Given the description of an element on the screen output the (x, y) to click on. 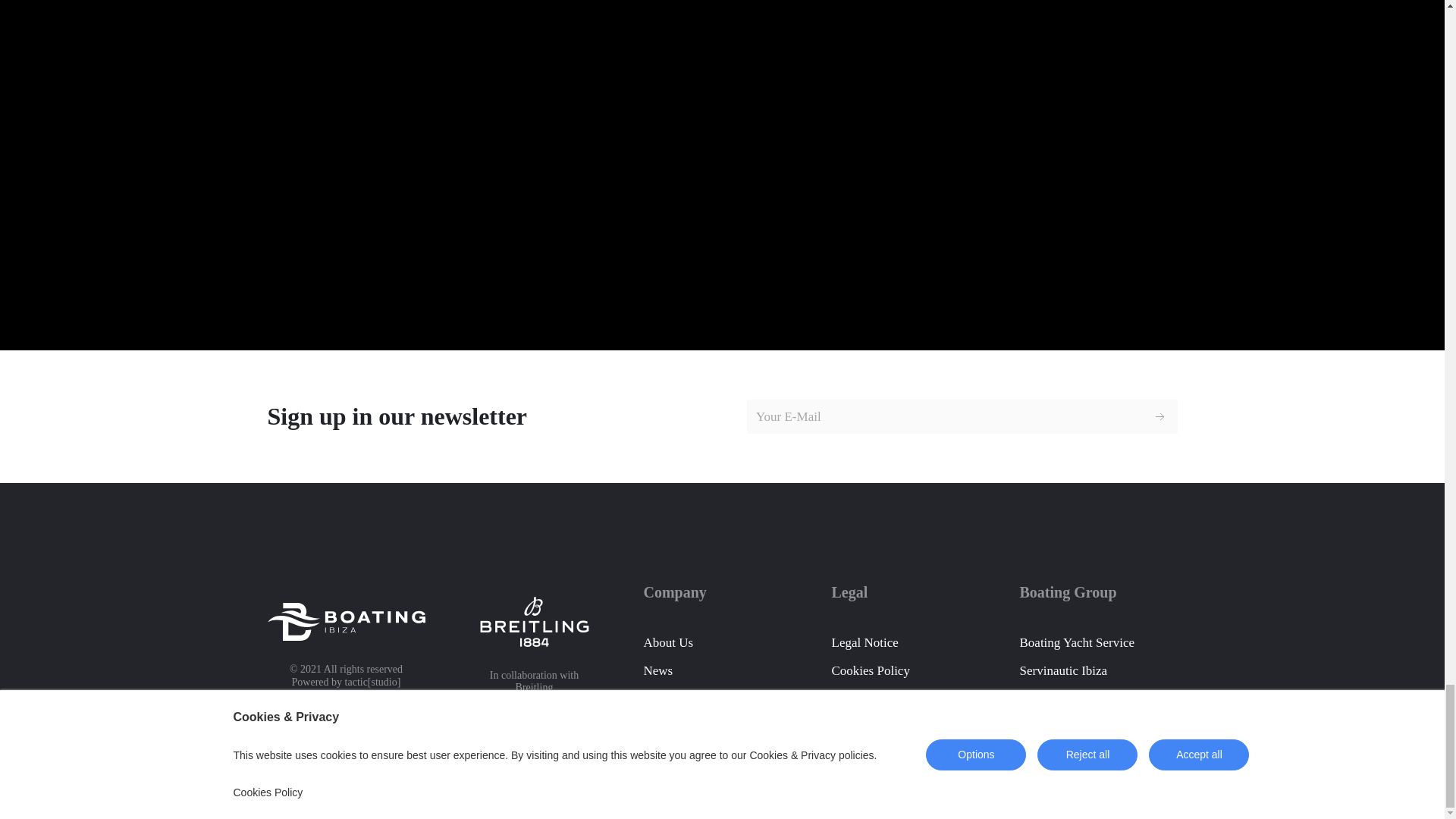
Web design agency in Ibiza (373, 681)
News (657, 670)
Breitling (534, 686)
Contact (662, 698)
Subscribe (1159, 416)
About Us (668, 642)
